Given the description of an element on the screen output the (x, y) to click on. 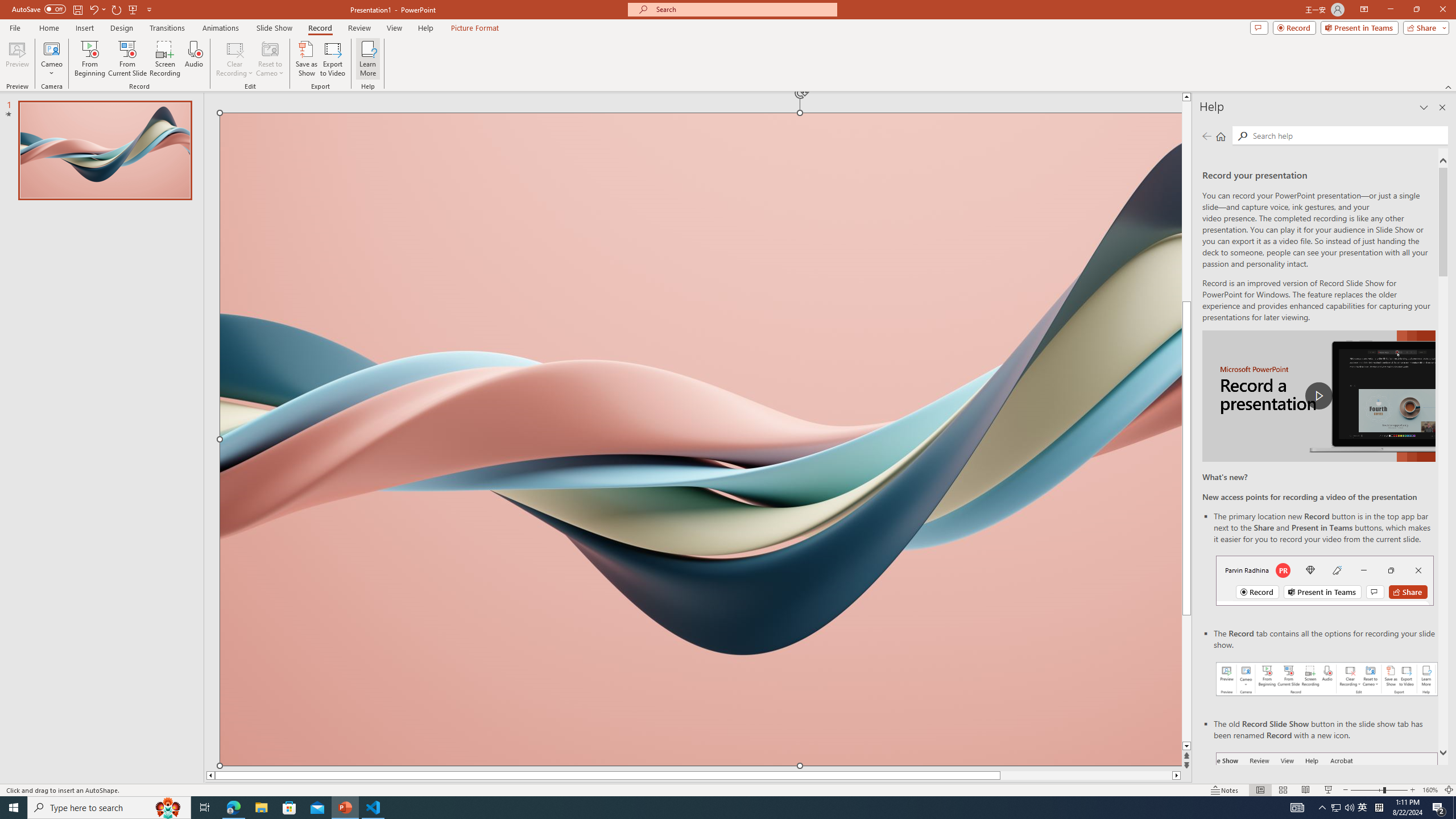
Save (77, 9)
Home (48, 28)
Quick Access Toolbar (82, 9)
Minimize (1390, 9)
